Given the description of an element on the screen output the (x, y) to click on. 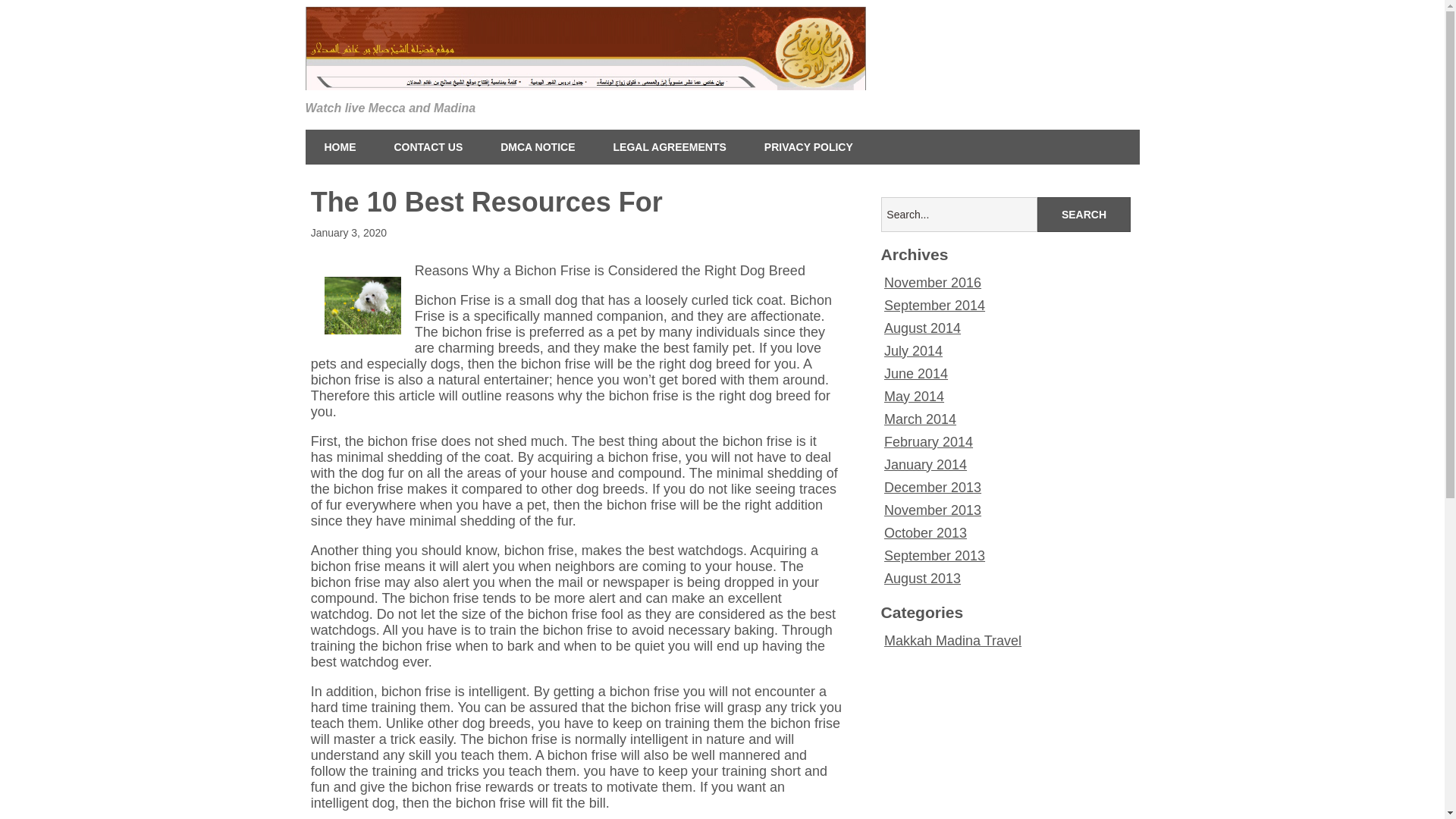
LEGAL AGREEMENTS (669, 146)
CONTACT US (427, 146)
DMCA NOTICE (537, 146)
HOME (339, 146)
